Given the description of an element on the screen output the (x, y) to click on. 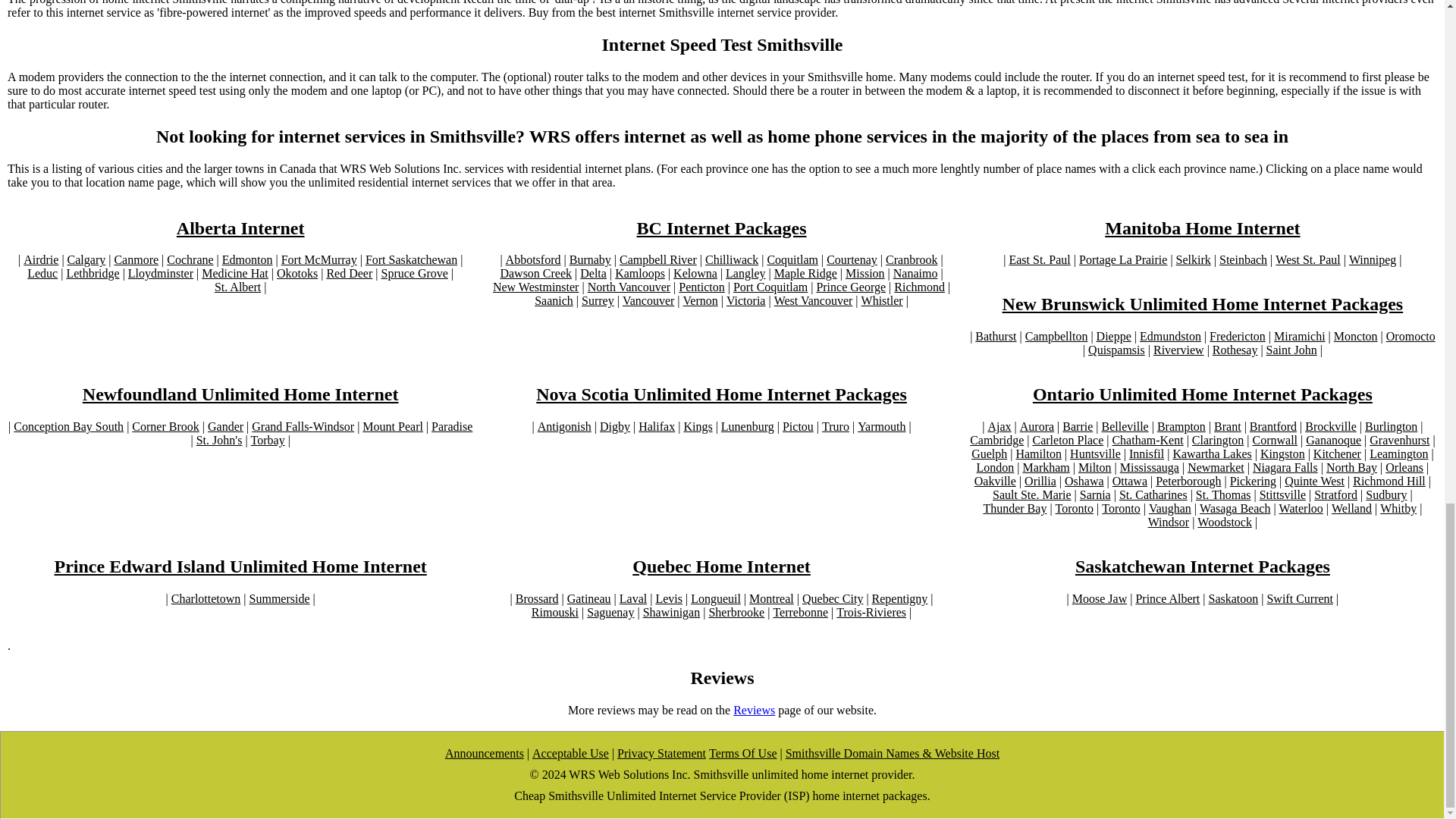
Abbotsford (532, 259)
Calgary (86, 259)
Airdrie (40, 259)
Lloydminster (160, 273)
Alberta Internet (240, 228)
Chilliwack (731, 259)
Campbell River (658, 259)
Coquitlam (792, 259)
Lethbridge (92, 273)
Medicine Hat (234, 273)
